Given the description of an element on the screen output the (x, y) to click on. 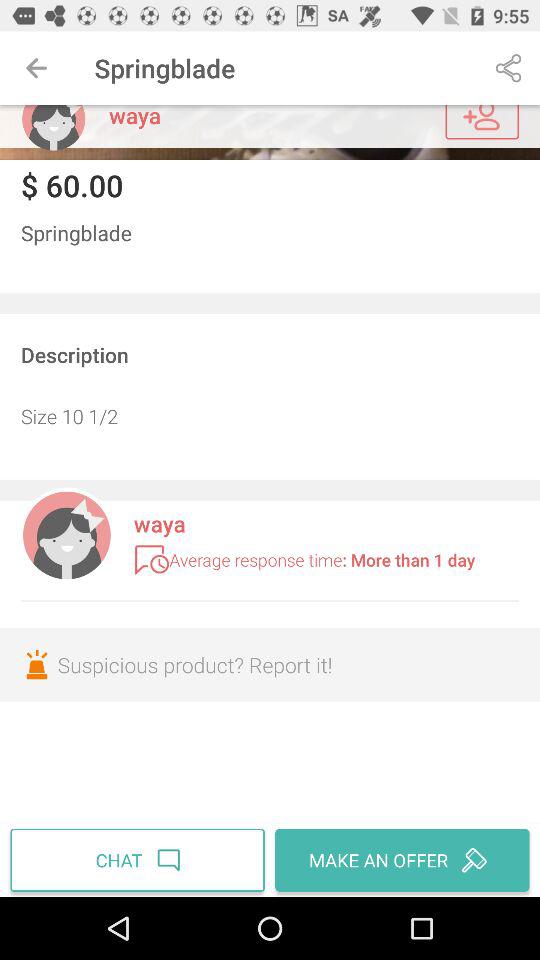
add friend (482, 122)
